Given the description of an element on the screen output the (x, y) to click on. 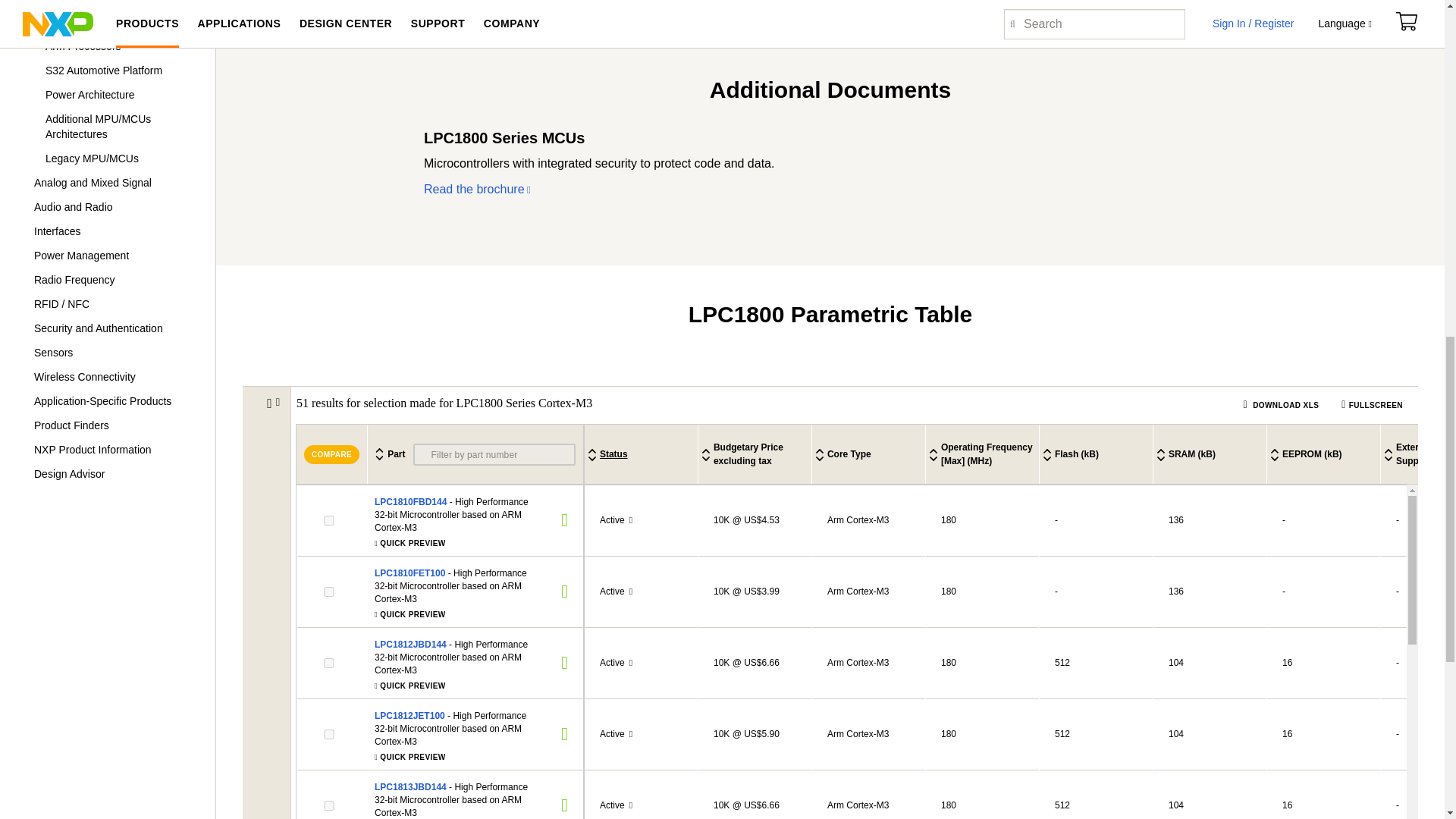
on (328, 520)
on (328, 592)
on (328, 734)
on (328, 663)
on (328, 805)
